Given the description of an element on the screen output the (x, y) to click on. 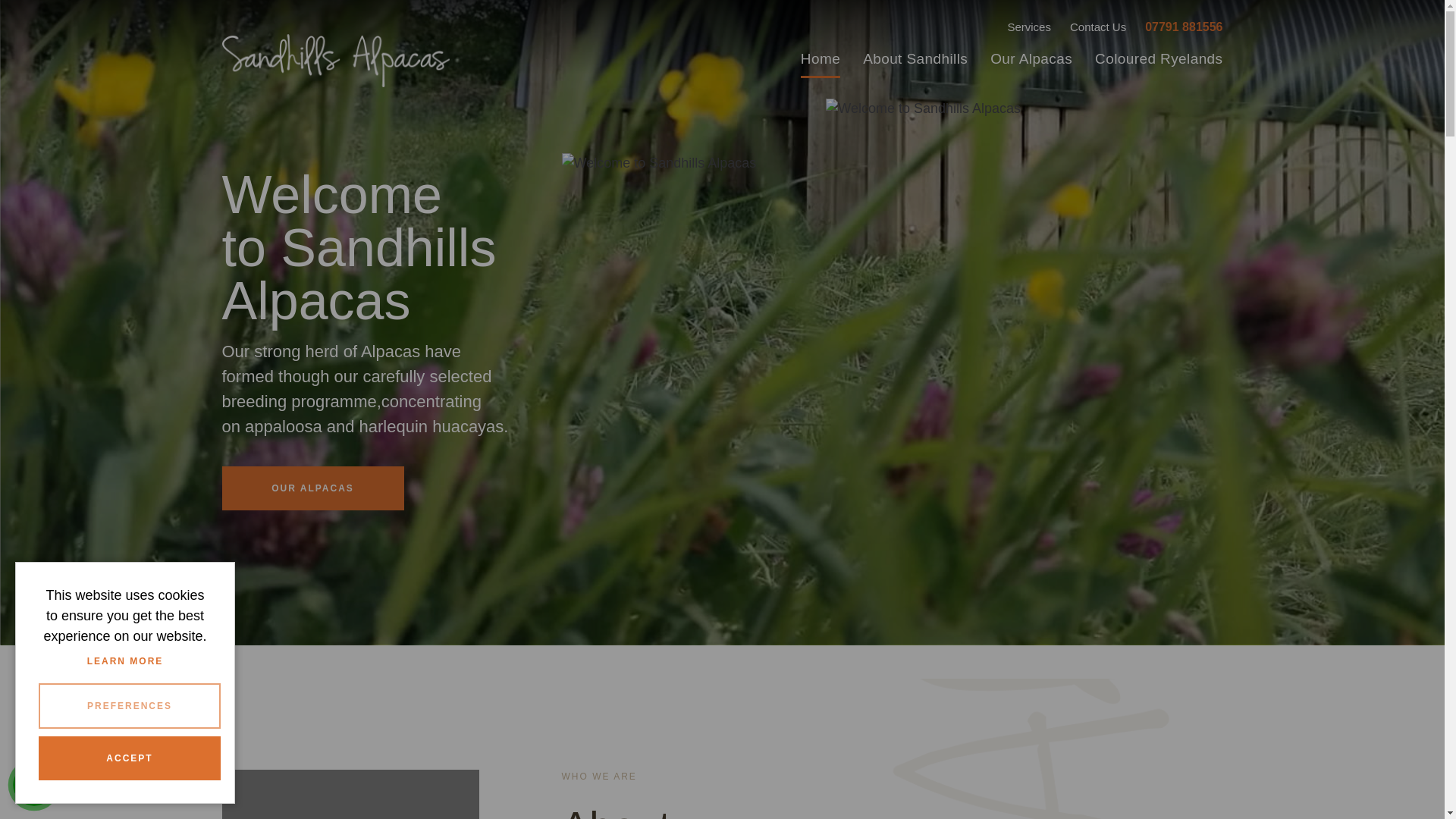
Services (1029, 26)
Our Alpacas (1030, 58)
Contact Us (1097, 26)
OUR ALPACAS (312, 488)
Coloured Ryelands (1153, 58)
07791 881556 (1183, 26)
About Sandhills (914, 58)
Home (820, 58)
